Given the description of an element on the screen output the (x, y) to click on. 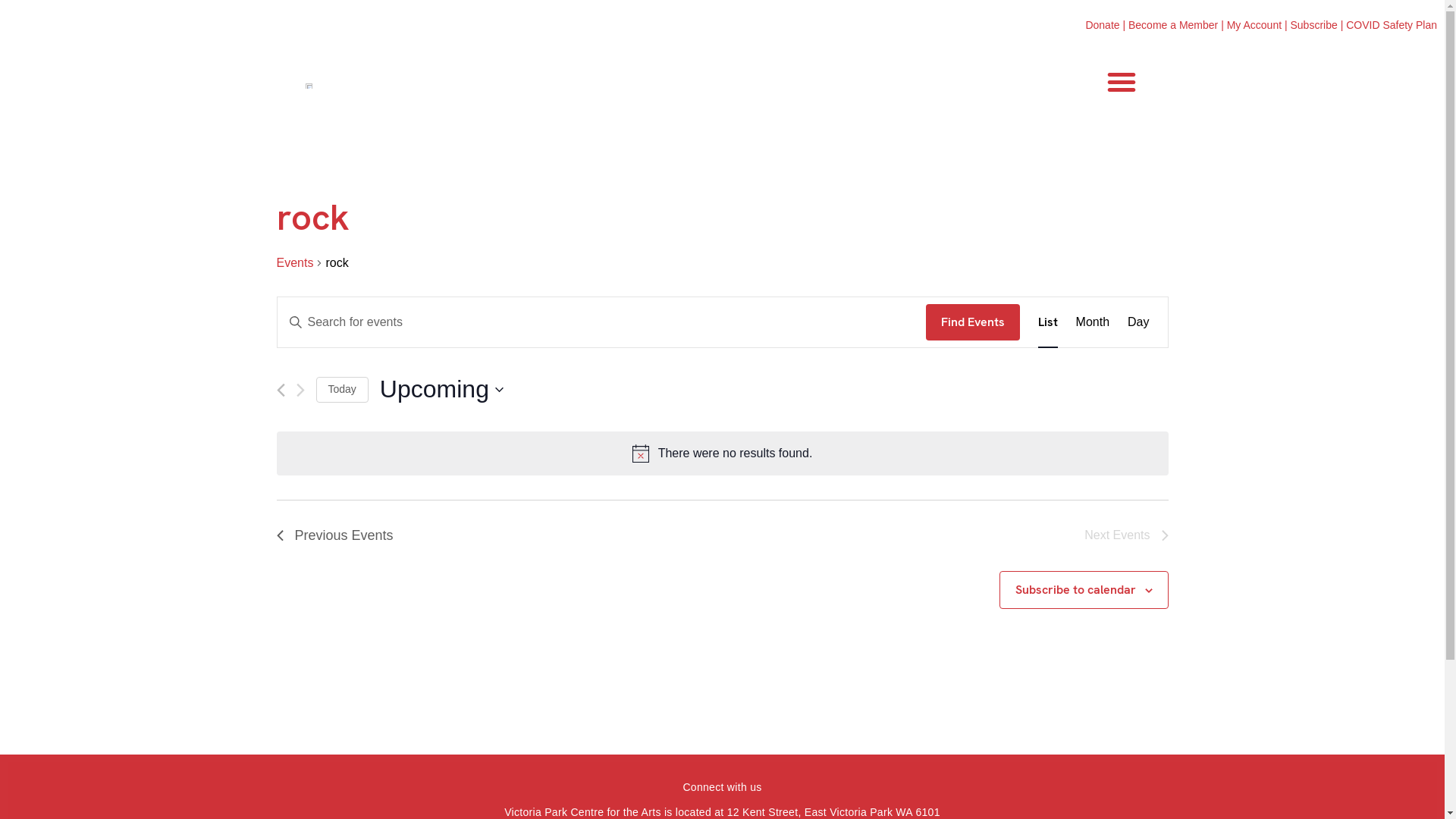
Subscribe Element type: text (1312, 24)
Day Element type: text (1137, 322)
Previous Events Element type: text (334, 535)
Today Element type: text (341, 388)
COVID Safety Plan Element type: text (1391, 24)
Subscribe to calendar Element type: text (1074, 589)
Next Events Element type: text (1125, 535)
Become a Member Element type: text (1172, 24)
My Account Element type: text (1253, 24)
List Element type: text (1047, 322)
Next Events Element type: hover (299, 389)
Upcoming Element type: text (441, 389)
Events Element type: text (294, 263)
Donate Element type: text (1102, 24)
Previous Events Element type: hover (280, 389)
Month Element type: text (1092, 322)
Find Events Element type: text (972, 322)
